Given the description of an element on the screen output the (x, y) to click on. 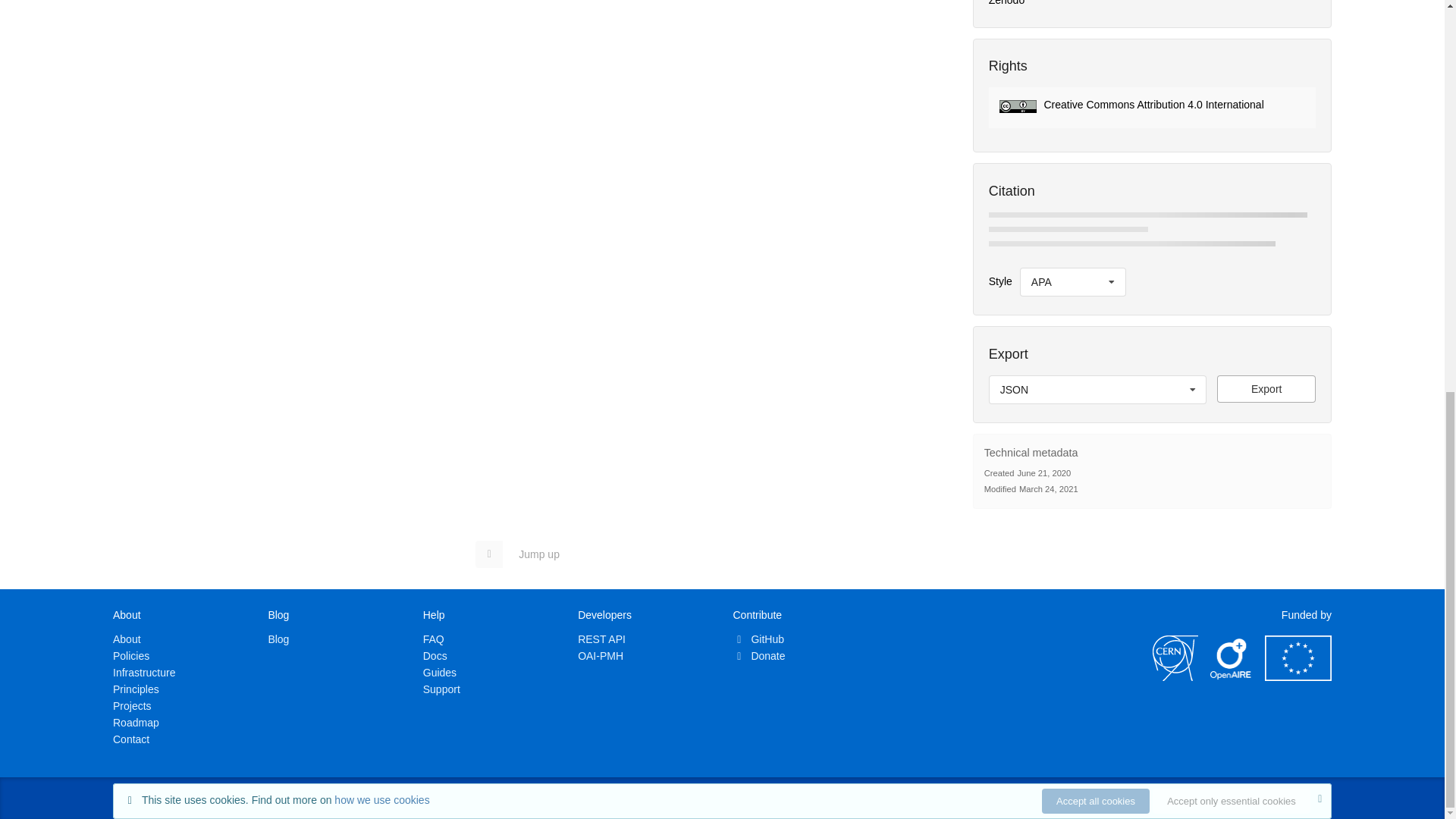
Principles (135, 689)
Download file (1266, 388)
Infrastructure (143, 672)
Roadmap (135, 722)
Policies (131, 655)
Jump up (525, 554)
Projects (132, 705)
About (127, 639)
Export (1266, 388)
Contact (131, 739)
